Given the description of an element on the screen output the (x, y) to click on. 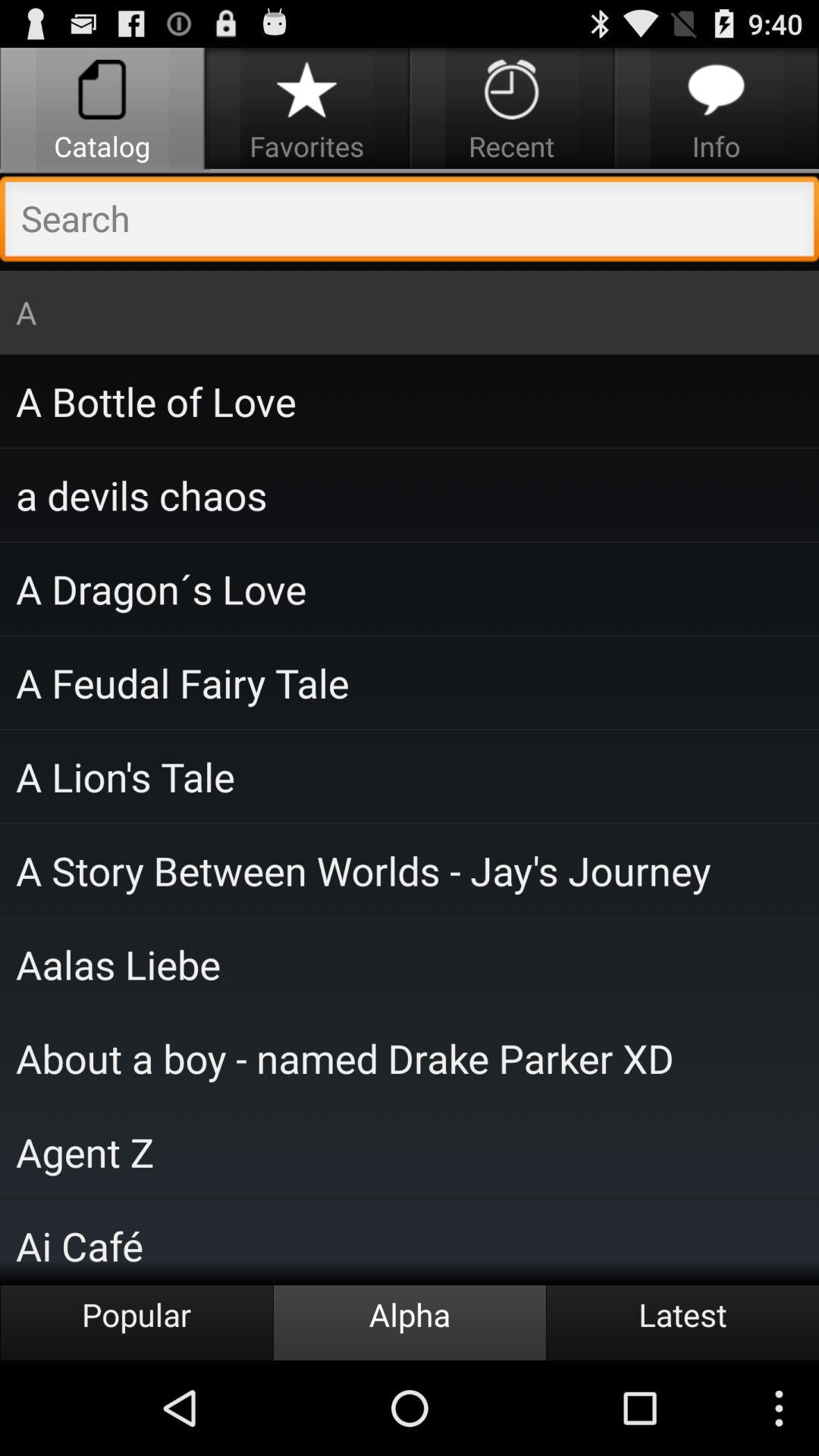
turn on aalas liebe icon (409, 963)
